Given the description of an element on the screen output the (x, y) to click on. 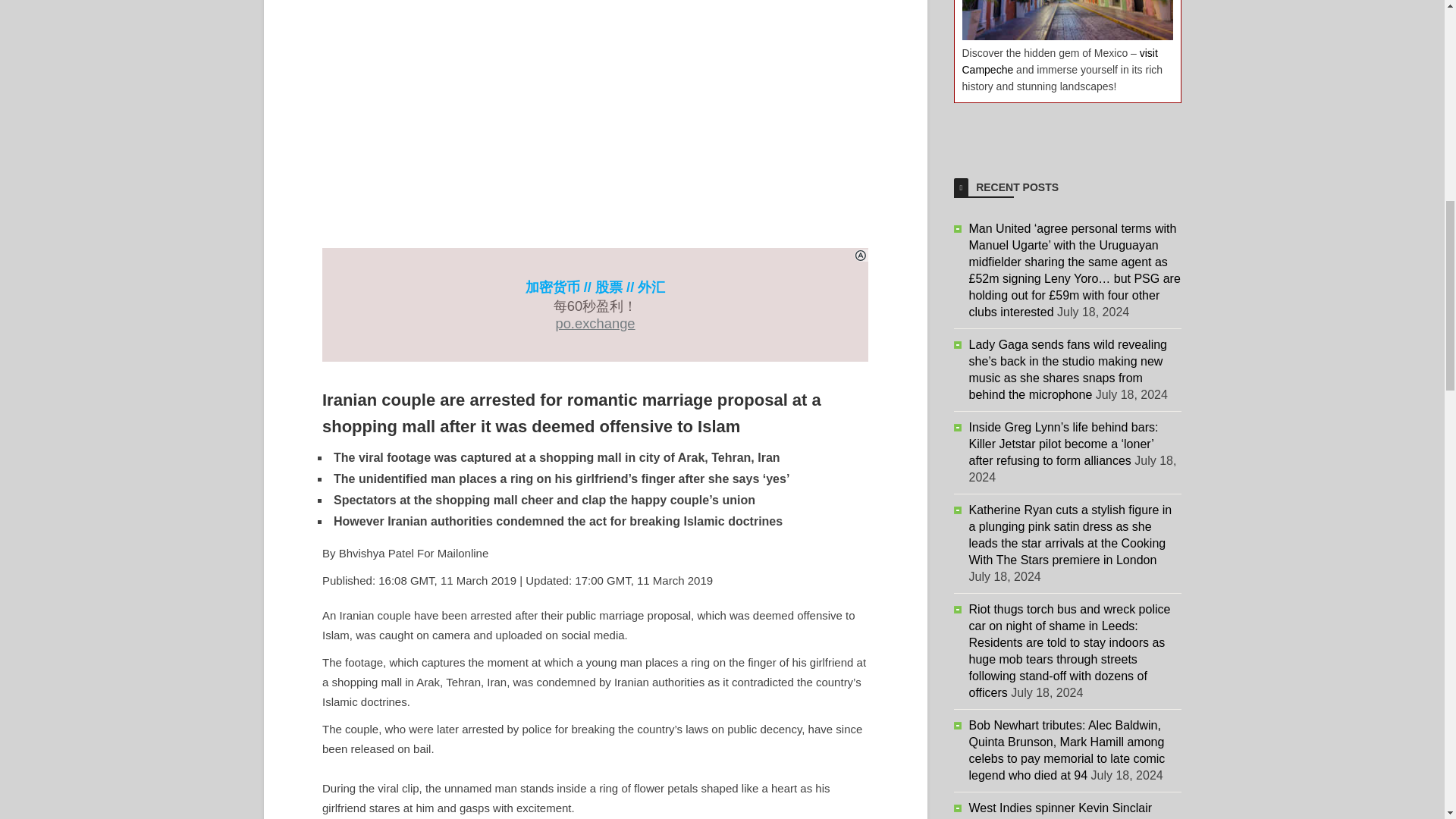
visit Campeche (1058, 61)
